Given the description of an element on the screen output the (x, y) to click on. 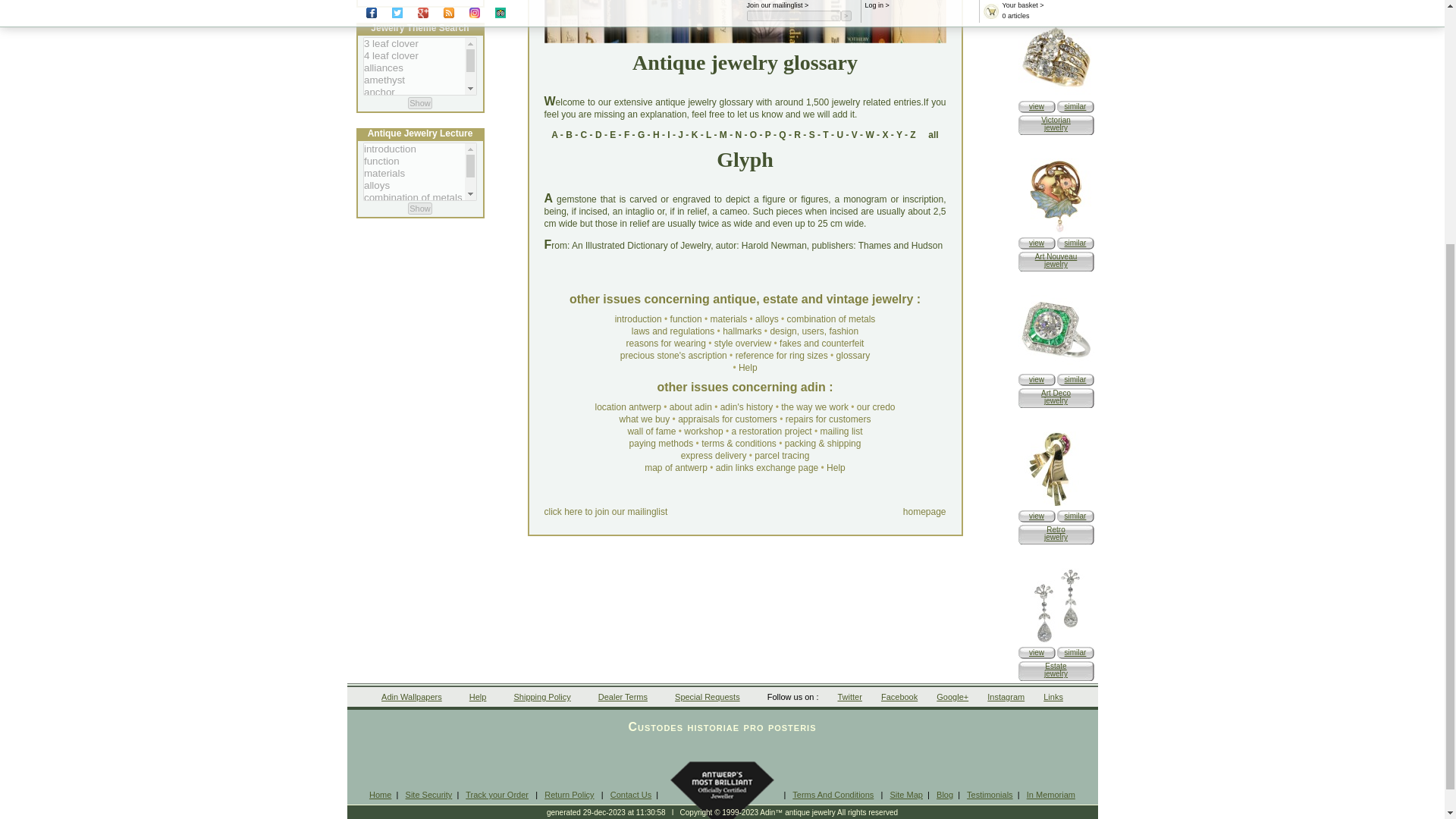
More on this victorian jewel (1055, 94)
more Art Nouveau jewelry (1075, 243)
More Art Deco jewelry (1075, 379)
More info on this Retro jewel (1055, 504)
More Estate jewelry (1075, 652)
Show (419, 102)
More info on this Art Nouveau jewel (1055, 231)
More Retro jewelry (1075, 515)
More info on this Art Nouveau jewel (1036, 243)
More info on this Vintage jewel (1036, 652)
More on this victorian jewel (1036, 106)
More info on this Retro jewel (1036, 515)
Show (419, 208)
More info on this Art Deco jewel (1055, 367)
More info on this Art Deco jewel (1036, 379)
